Given the description of an element on the screen output the (x, y) to click on. 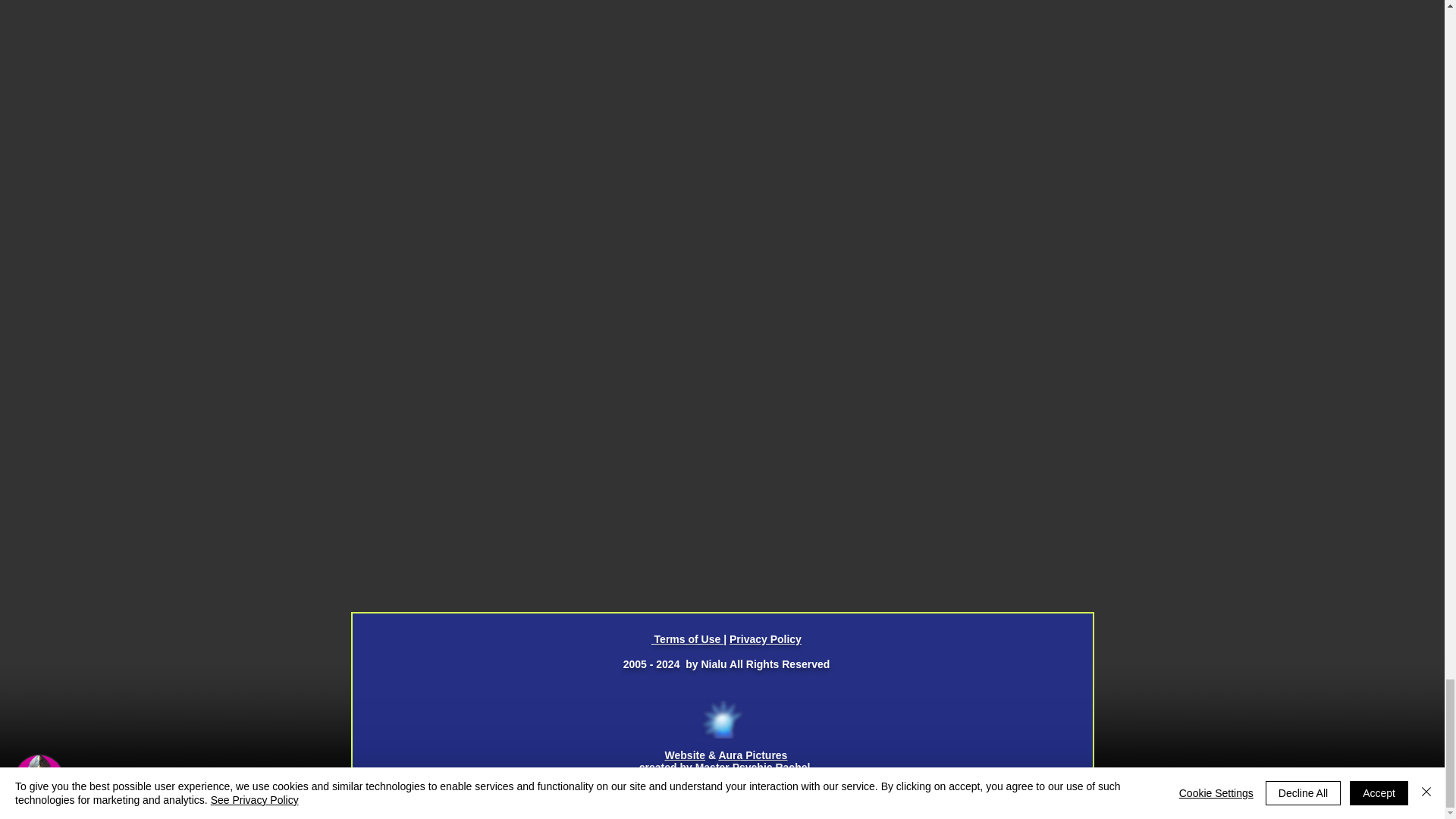
Privacy Policy (765, 639)
Website (684, 755)
 Terms of Use (686, 639)
Aura Pictures (752, 755)
